Given the description of an element on the screen output the (x, y) to click on. 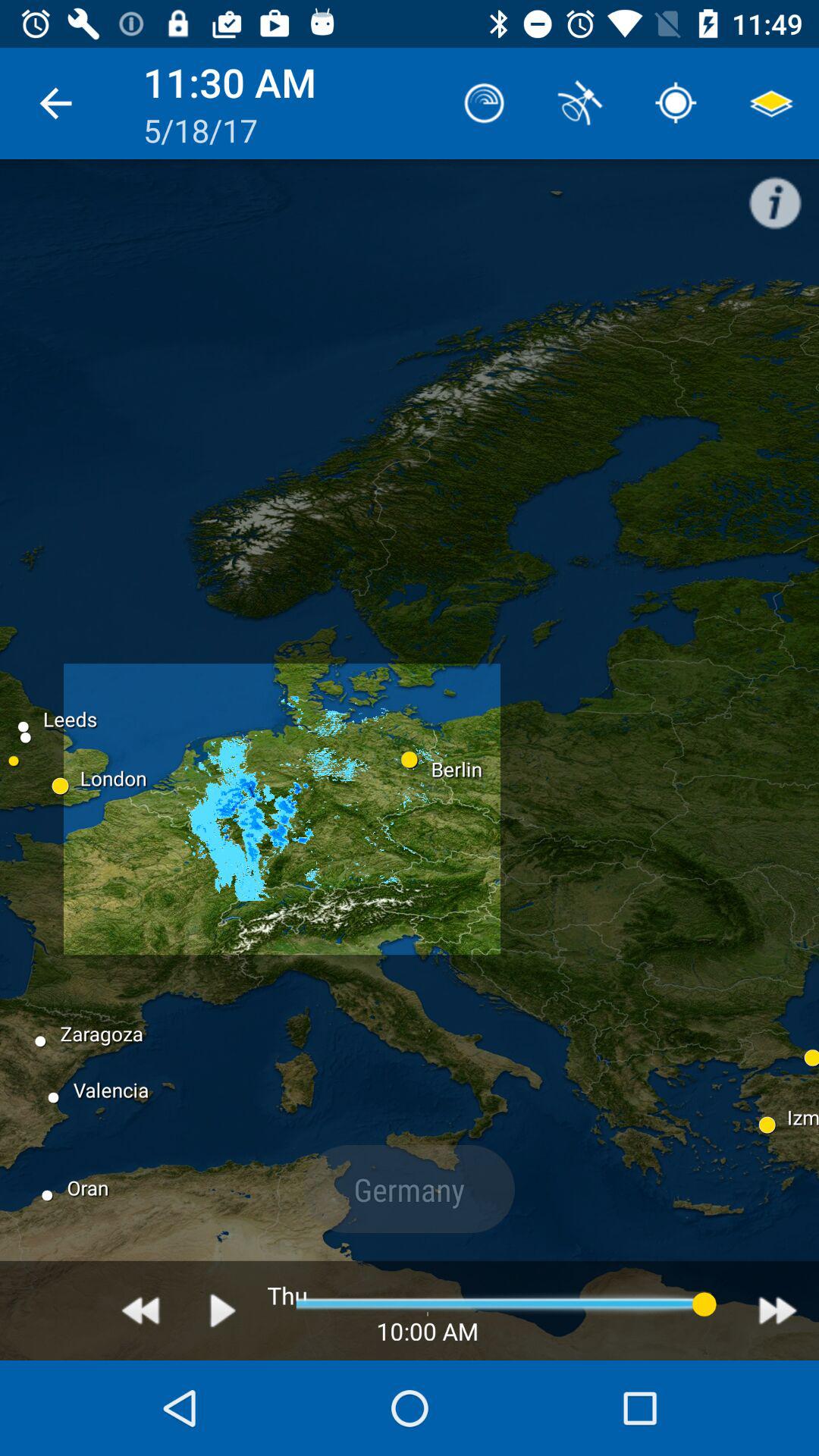
tap item next to 11:30 am item (55, 103)
